Given the description of an element on the screen output the (x, y) to click on. 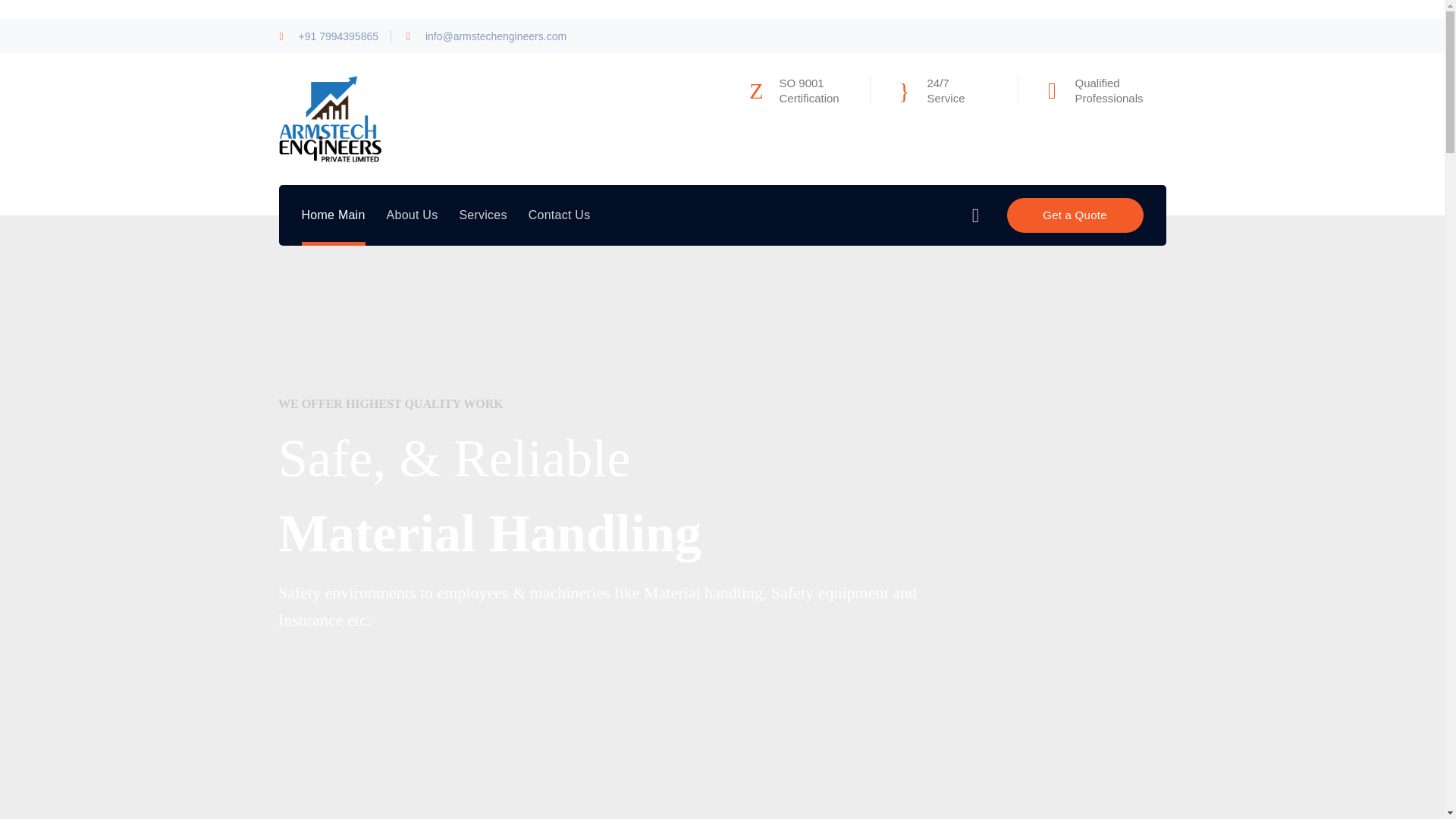
Contact Us (559, 215)
Get a Quote (1074, 215)
Home Main (333, 215)
armstechengineers.com (330, 117)
